Given the description of an element on the screen output the (x, y) to click on. 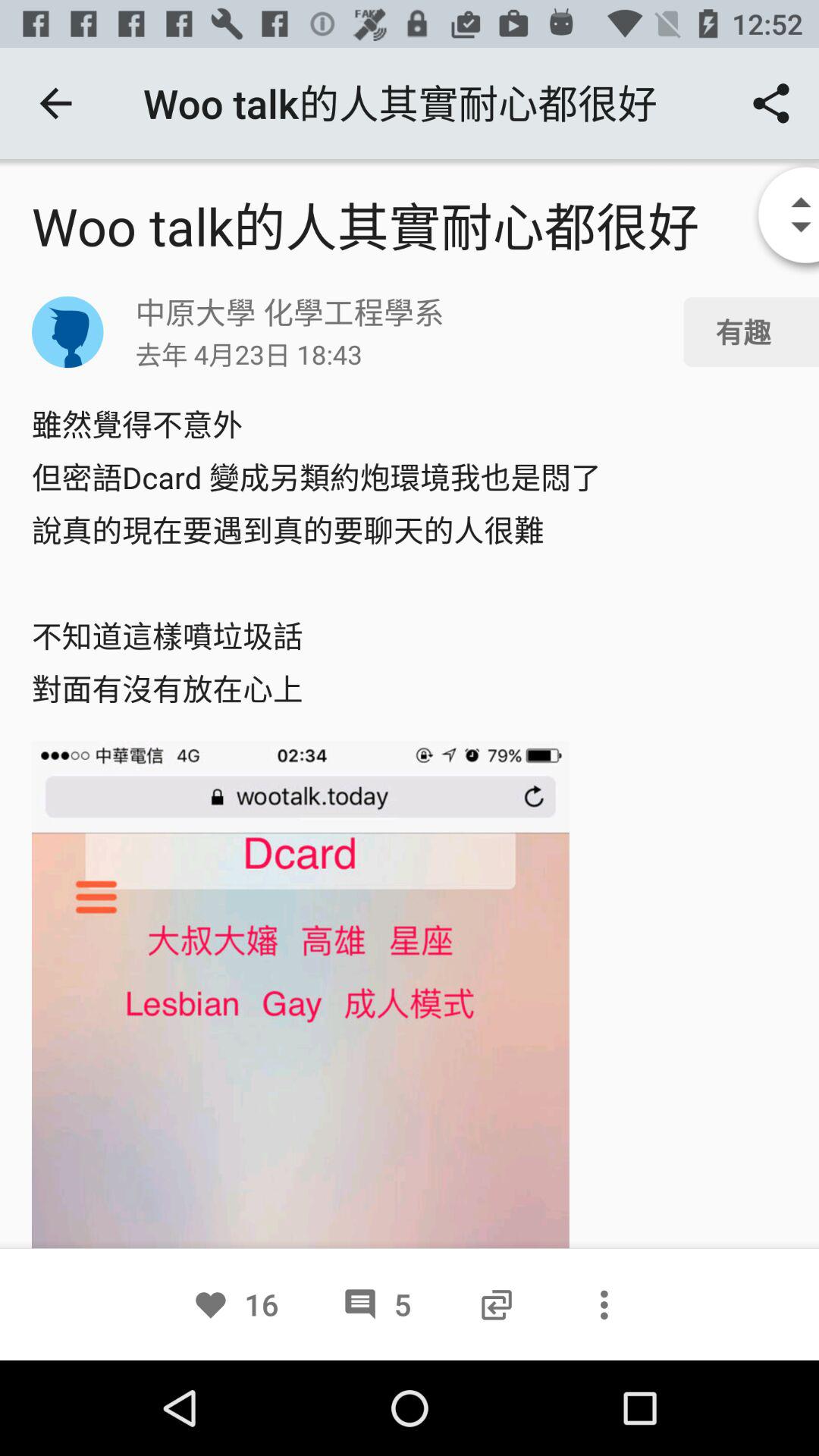
jump to the 16 icon (235, 1304)
